Given the description of an element on the screen output the (x, y) to click on. 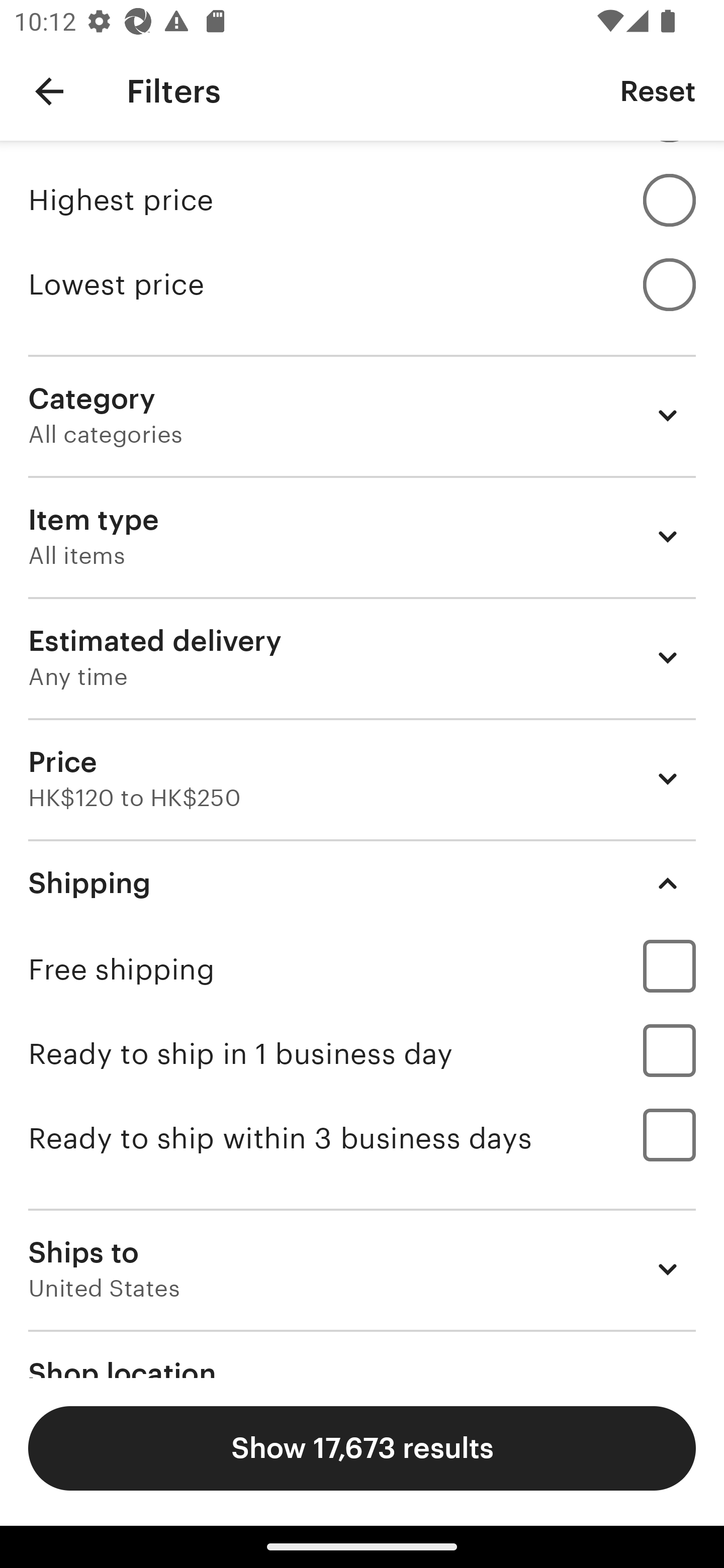
Navigate up (49, 91)
Reset (657, 90)
Highest price (362, 199)
Lowest price (362, 283)
Category All categories (362, 415)
Item type All items (362, 536)
Estimated delivery Any time (362, 657)
Price HK$120 to HK$250 (362, 778)
Shipping (362, 882)
Free shipping (362, 968)
Ready to ship in 1 business day (362, 1053)
Ready to ship within 3 business days (362, 1138)
Ships to United States (362, 1268)
Show 17,673 results Show results (361, 1448)
